Given the description of an element on the screen output the (x, y) to click on. 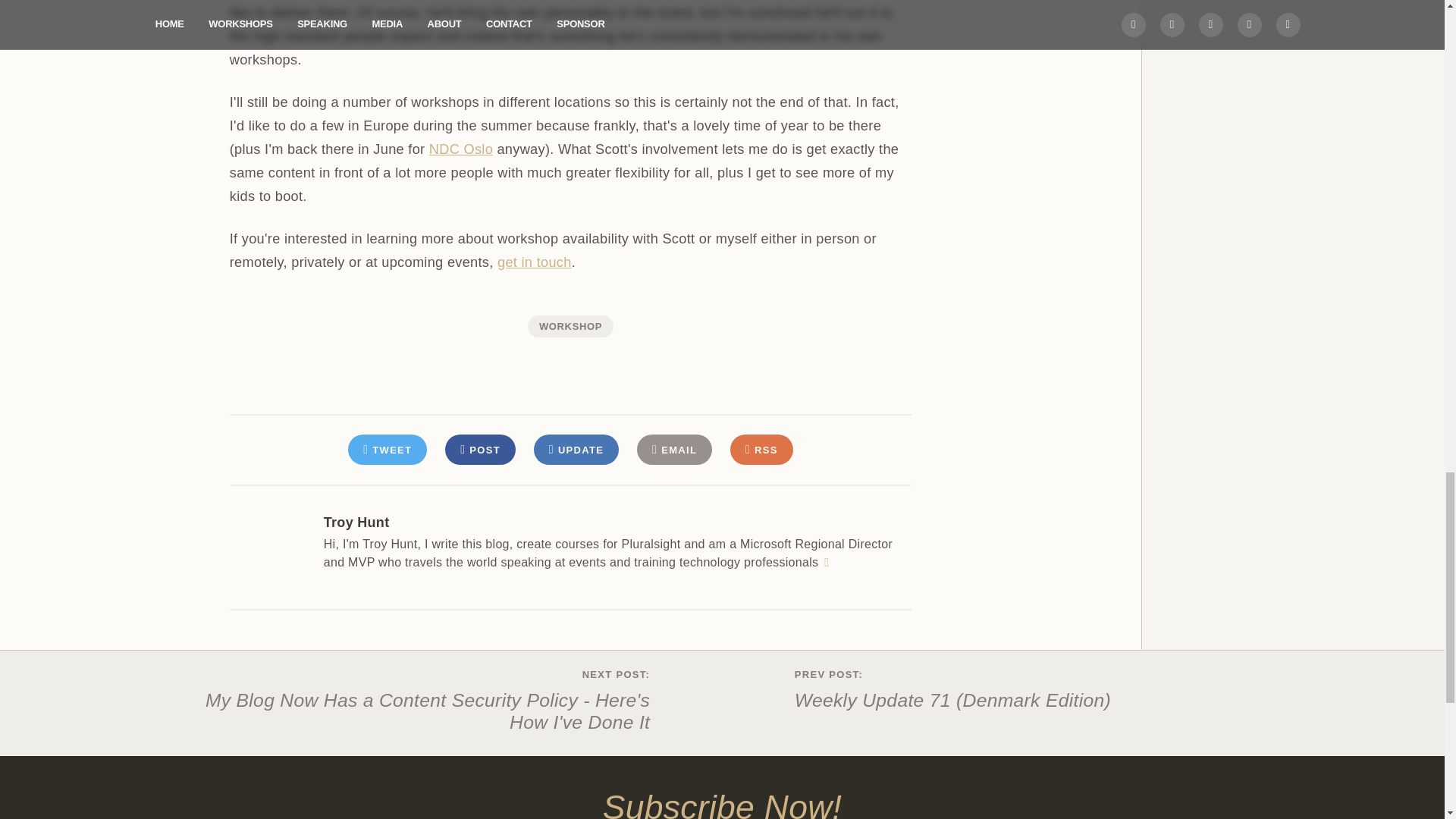
TWEET (386, 449)
WORKSHOP (569, 326)
UPDATE (576, 449)
NDC Oslo (461, 149)
RSS (761, 449)
POST (480, 449)
EMAIL (674, 449)
get in touch (534, 262)
